Given the description of an element on the screen output the (x, y) to click on. 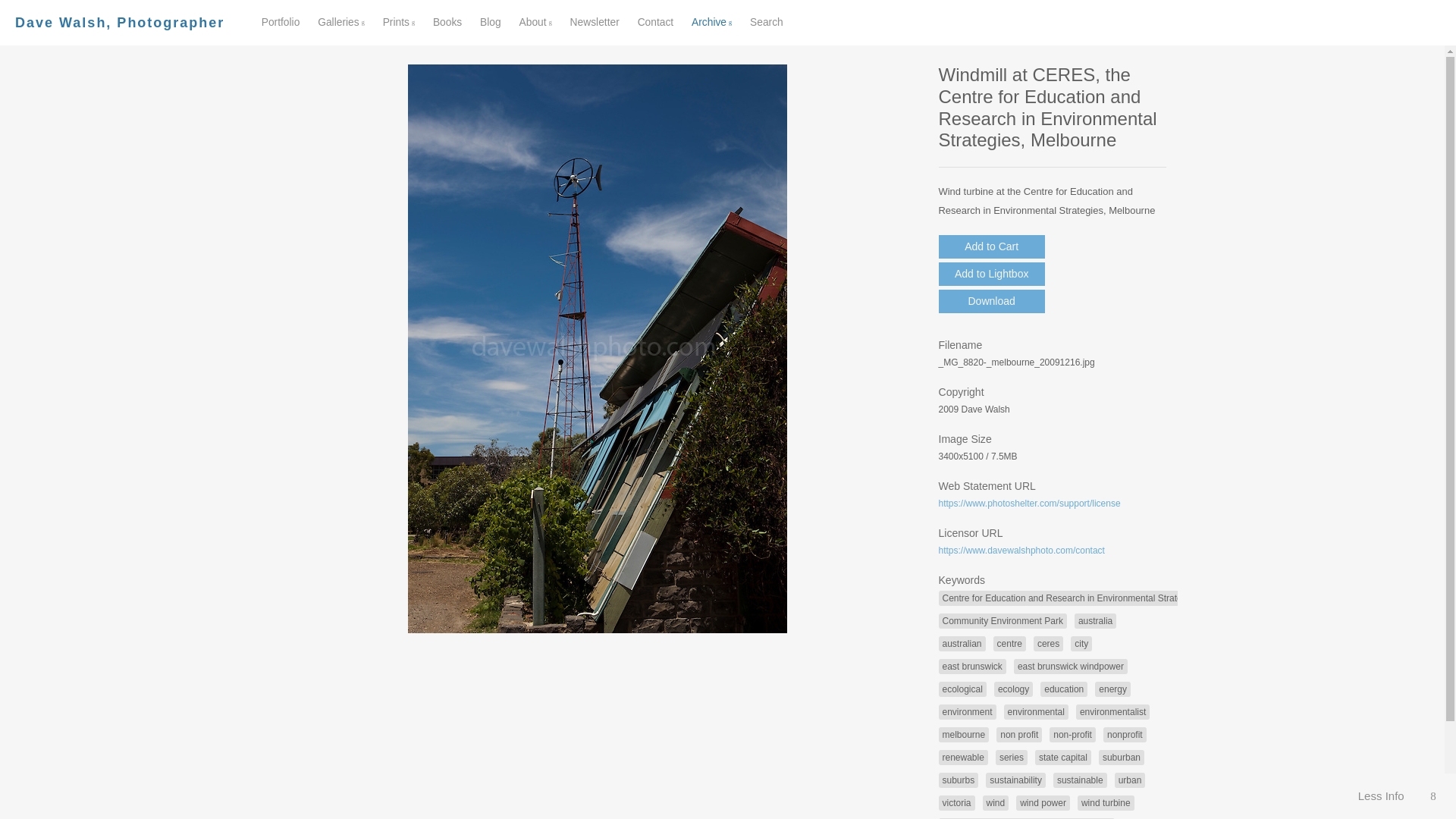
australian (962, 643)
Dave Walsh, Photographer (119, 22)
australia (1095, 620)
centre (1009, 643)
Blog (490, 21)
Contact (655, 21)
Add to Cart (992, 246)
Newsletter (595, 21)
Books (446, 21)
